Given the description of an element on the screen output the (x, y) to click on. 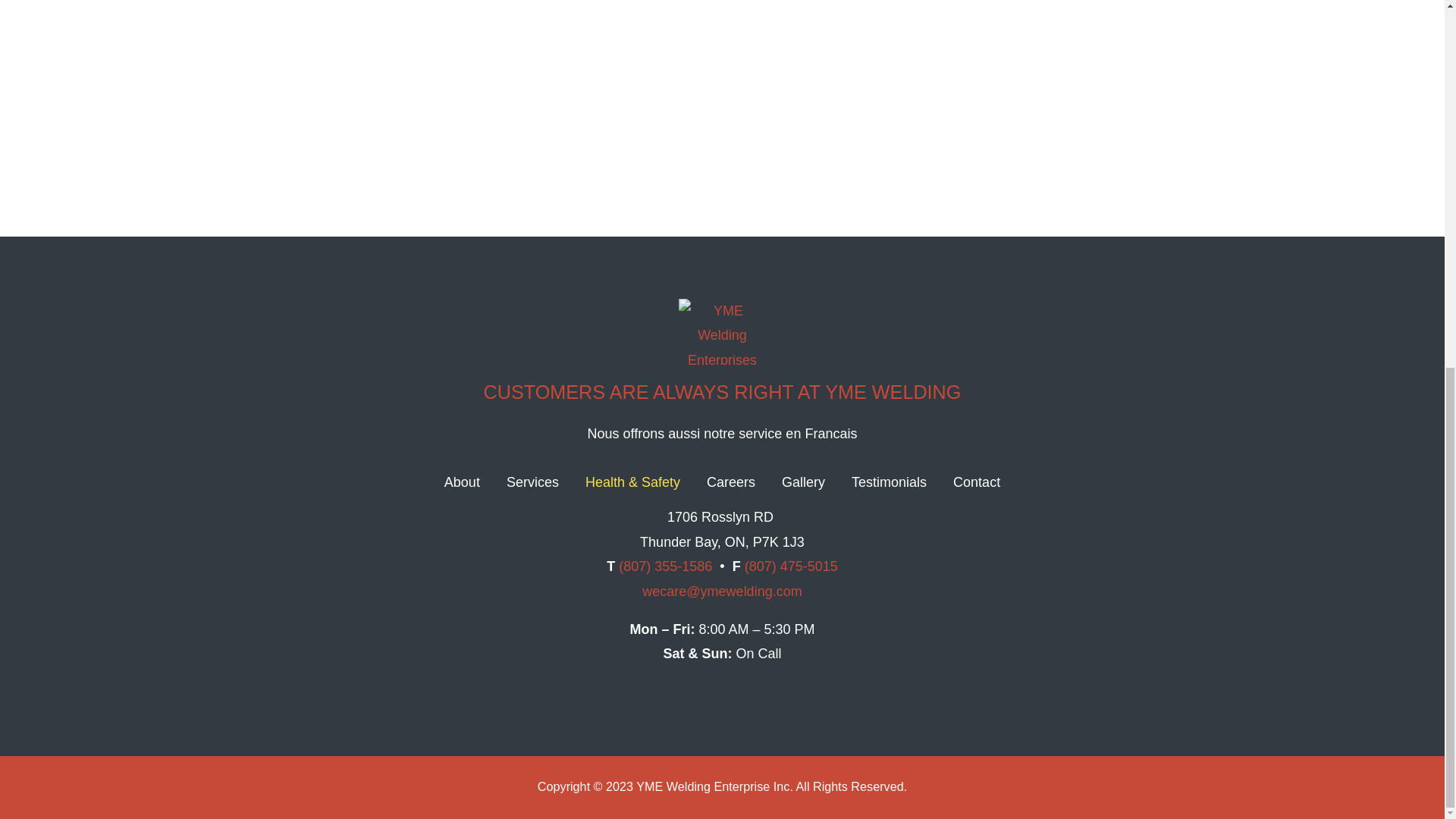
Testimonials (888, 482)
Careers (730, 482)
Gallery (803, 482)
About (462, 482)
Services (532, 482)
Contact (976, 482)
